Given the description of an element on the screen output the (x, y) to click on. 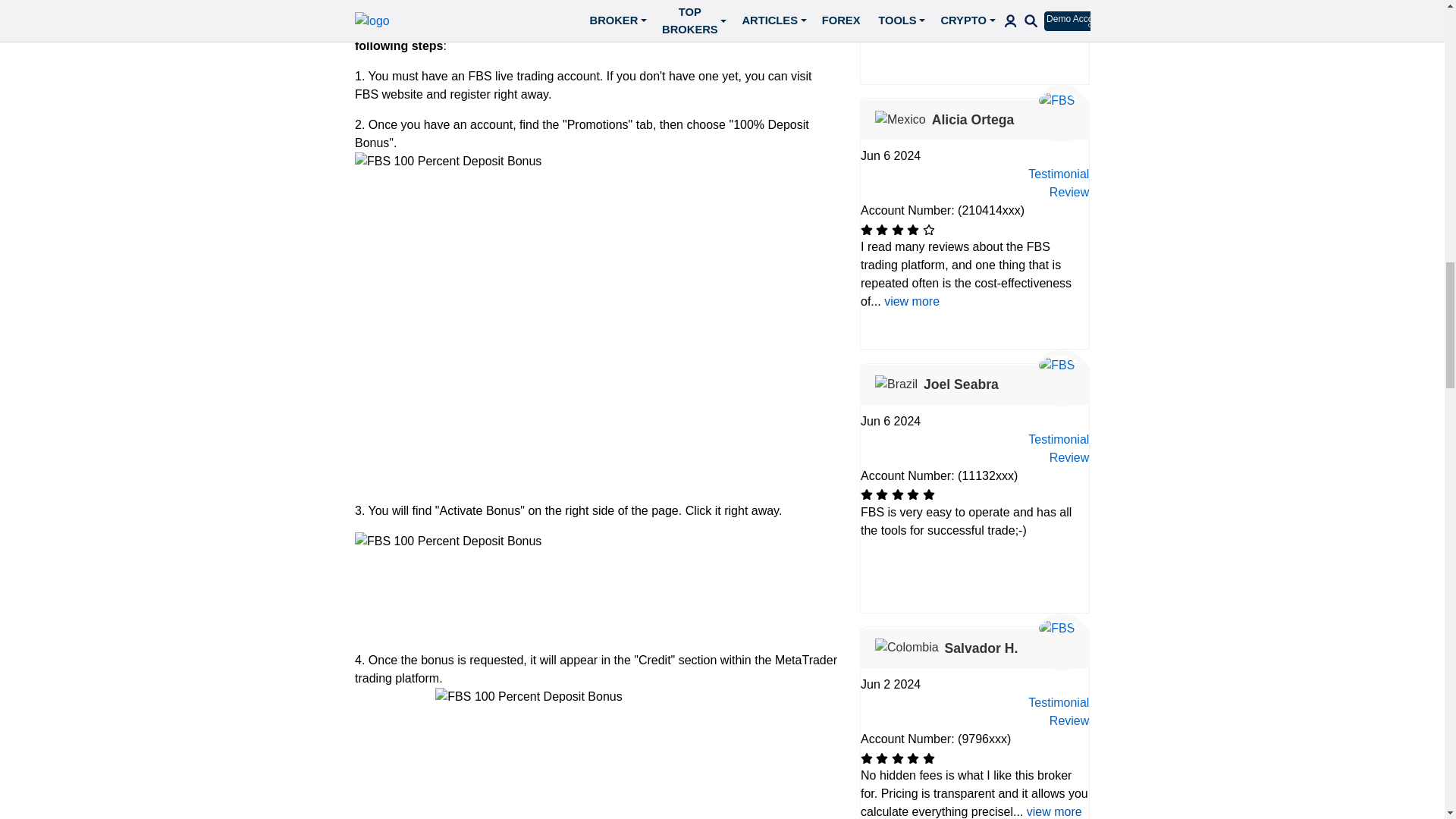
Brazil (896, 384)
Colombia (907, 647)
Mexico (900, 118)
